Given the description of an element on the screen output the (x, y) to click on. 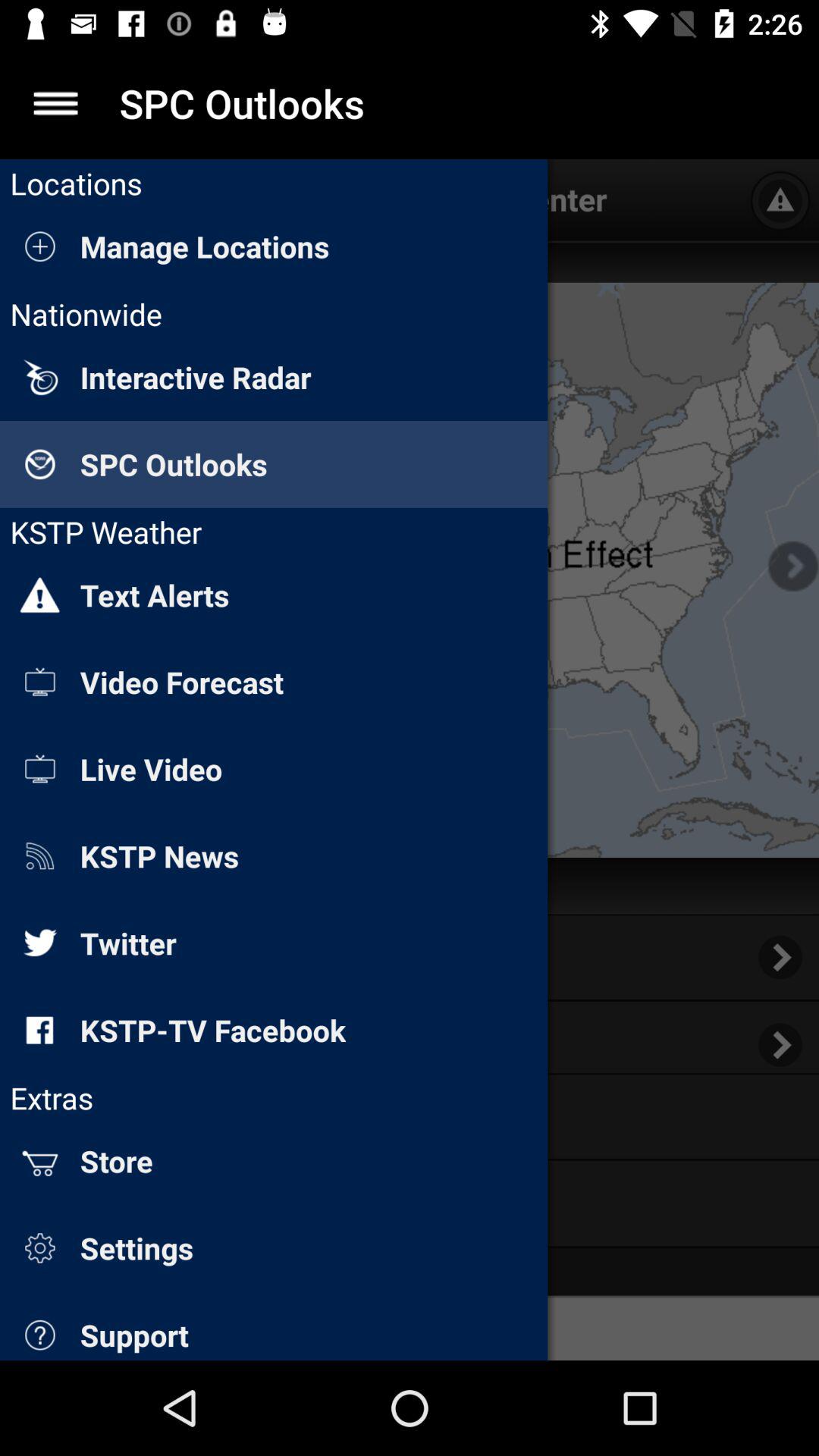
main menu button (55, 103)
